Given the description of an element on the screen output the (x, y) to click on. 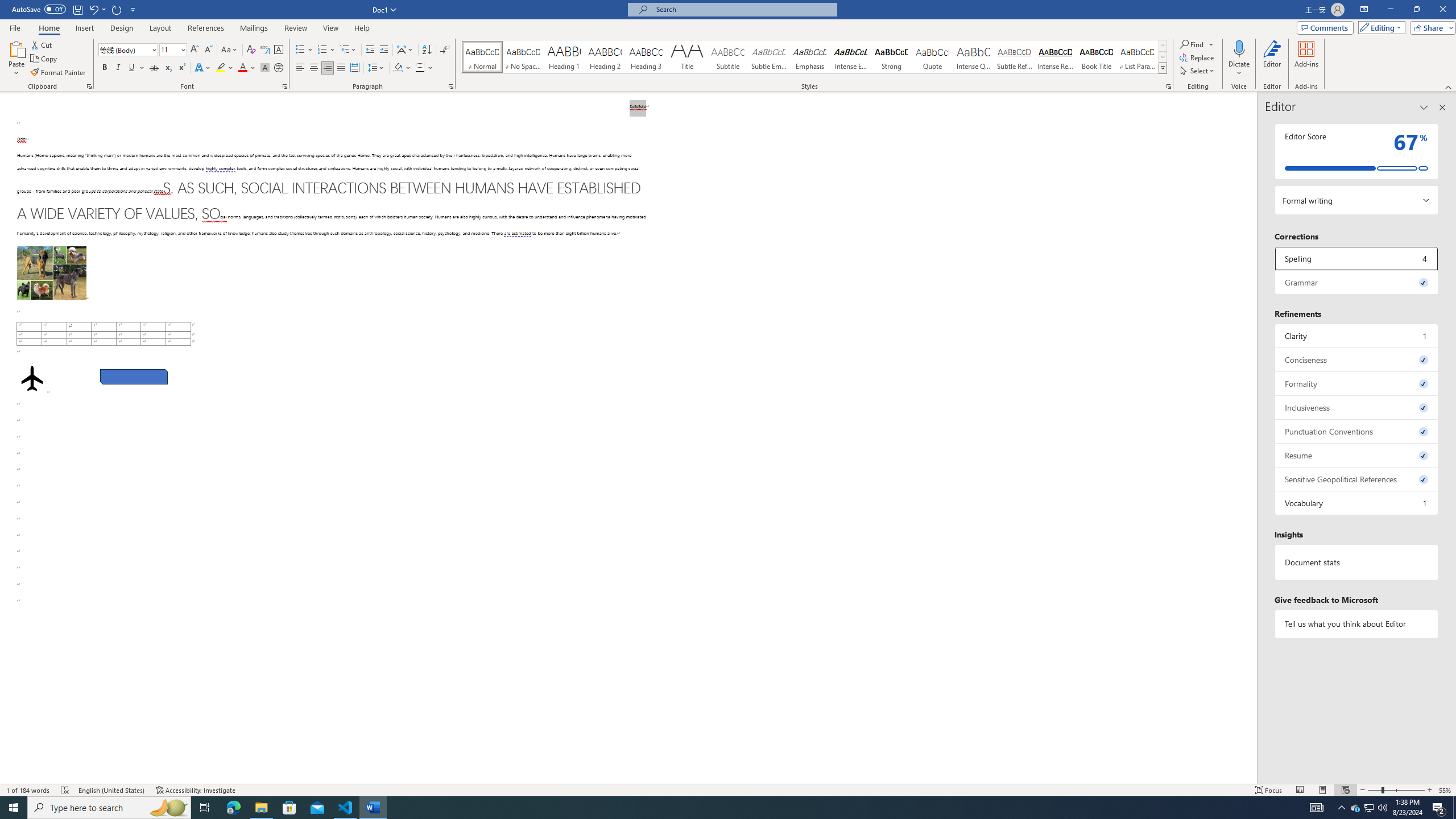
Zoom 55% (1445, 790)
Formality, 0 issues. Press space or enter to review items. (1356, 383)
